Given the description of an element on the screen output the (x, y) to click on. 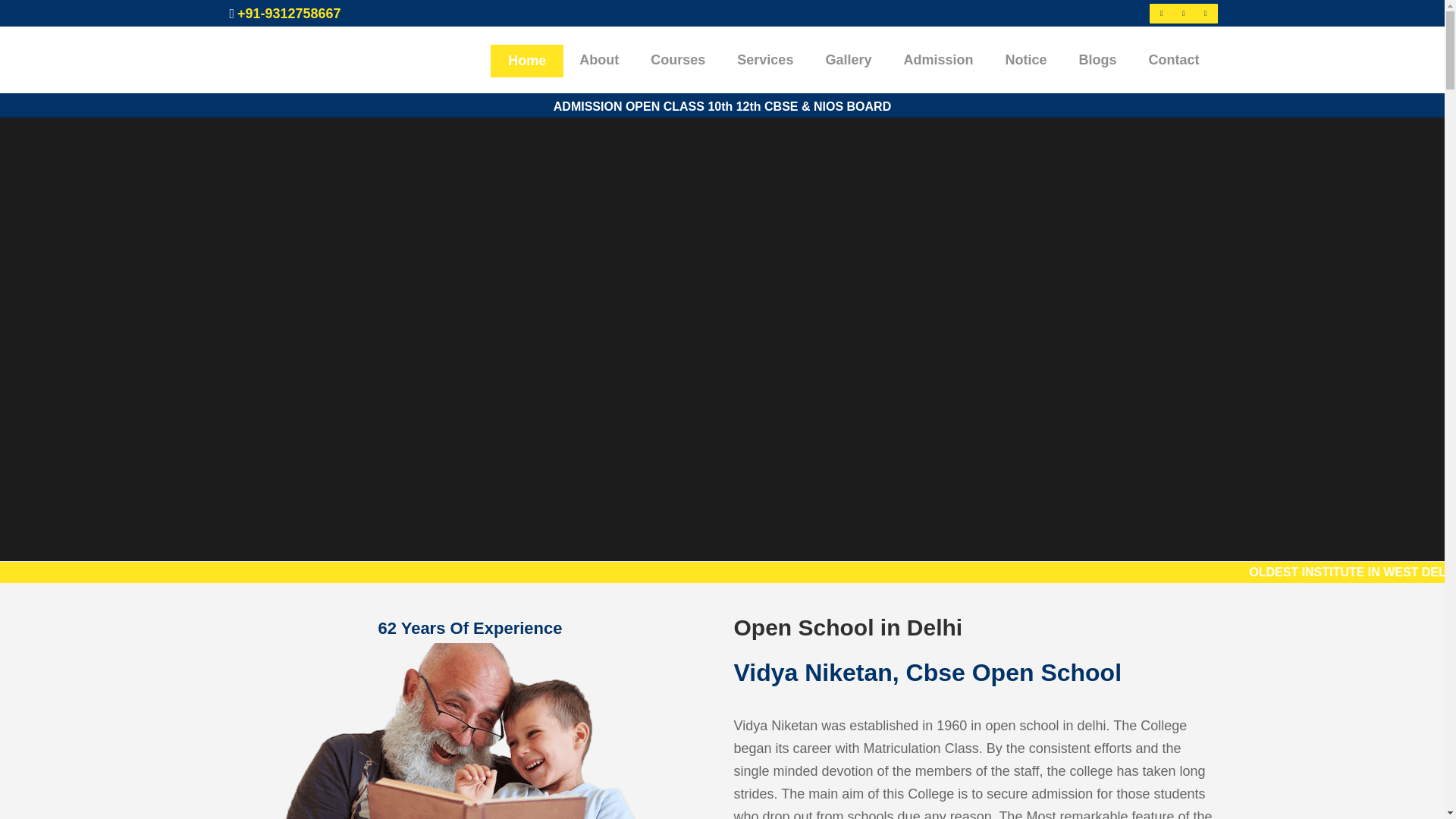
Contact (1173, 59)
Courses (677, 59)
Gallery (847, 59)
Admission (937, 59)
Home (526, 59)
Services (764, 59)
Blogs (1097, 59)
Notice (1025, 59)
About (598, 59)
